Given the description of an element on the screen output the (x, y) to click on. 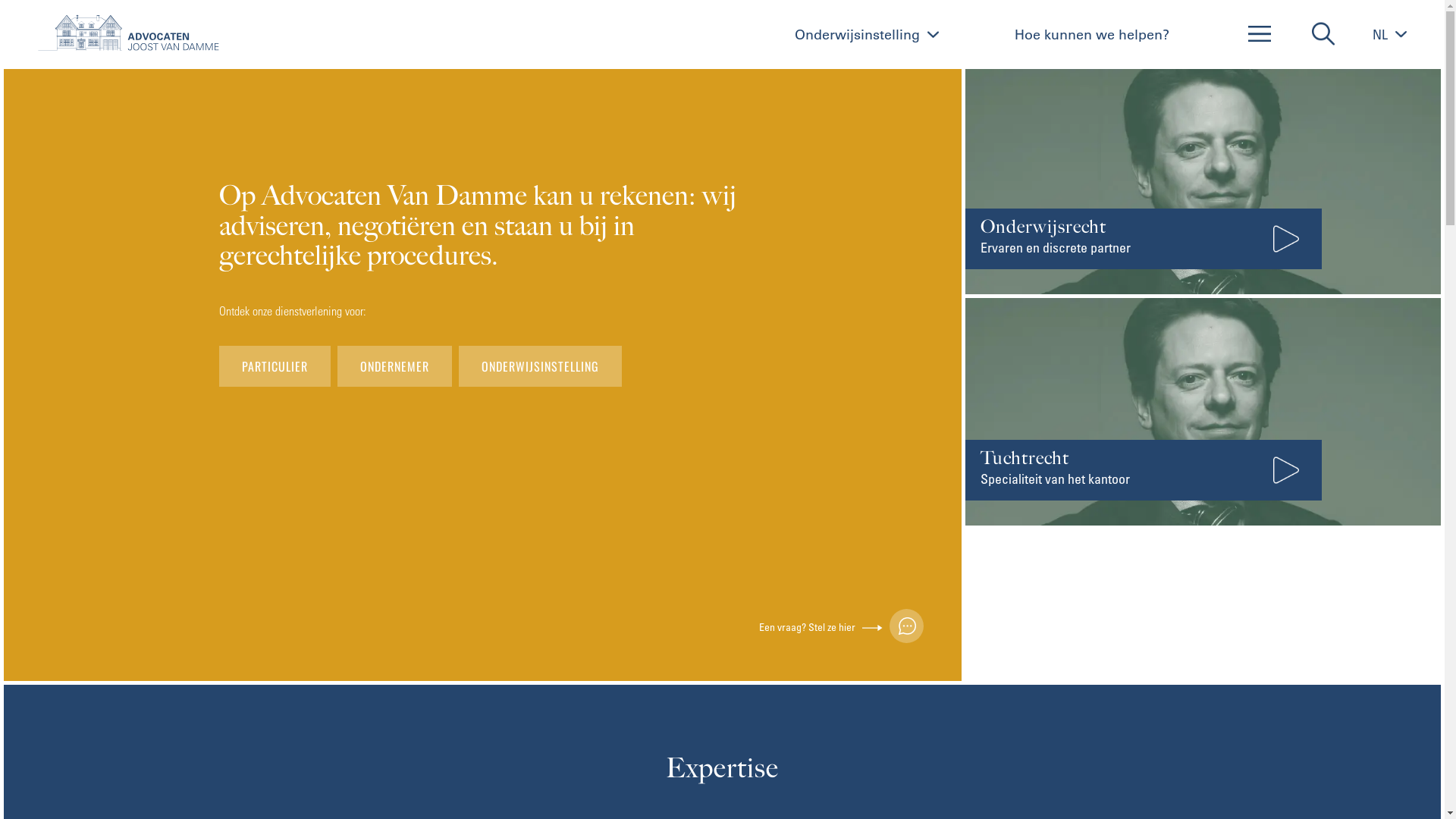
Onderwijsrecht
Ervaren en discrete partner Element type: text (1202, 180)
ONDERNEMER
ONDERNEMER Element type: text (394, 365)
Een vraag? Stel ze hier Element type: text (841, 625)
PARTICULIER
PARTICULIER Element type: text (274, 365)
ONDERWIJSINSTELLING
ONDERWIJSINSTELLING Element type: text (539, 365)
Tuchtrecht
Specialiteit van het kantoor Element type: text (1202, 411)
